Given the description of an element on the screen output the (x, y) to click on. 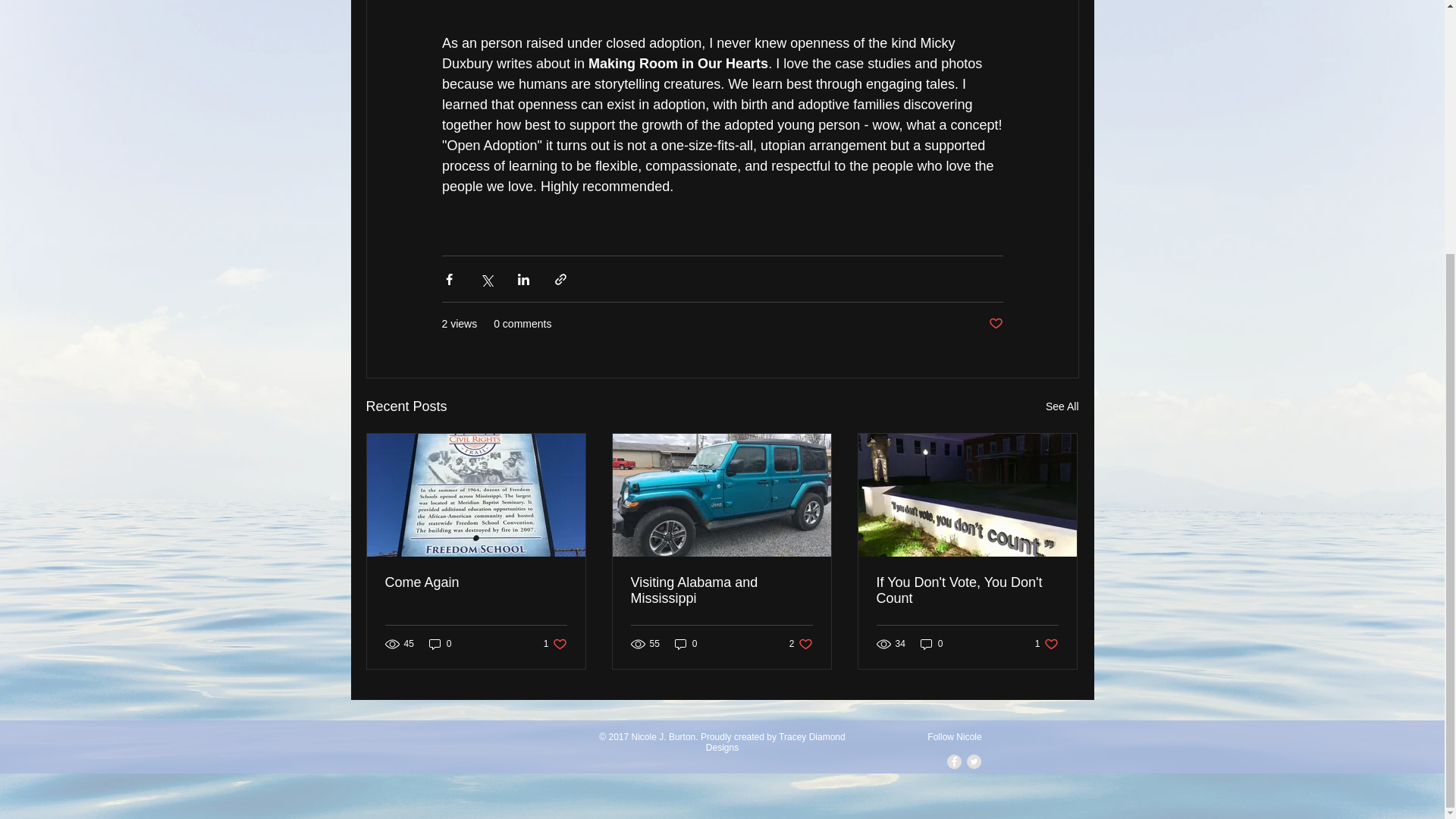
0 (440, 644)
0 (685, 644)
See All (1061, 406)
If You Don't Vote, You Don't Count (555, 644)
Visiting Alabama and Mississippi (967, 590)
Tracey Diamond Designs (800, 644)
0 (721, 590)
Post not marked as liked (775, 742)
Come Again (1046, 644)
